Given the description of an element on the screen output the (x, y) to click on. 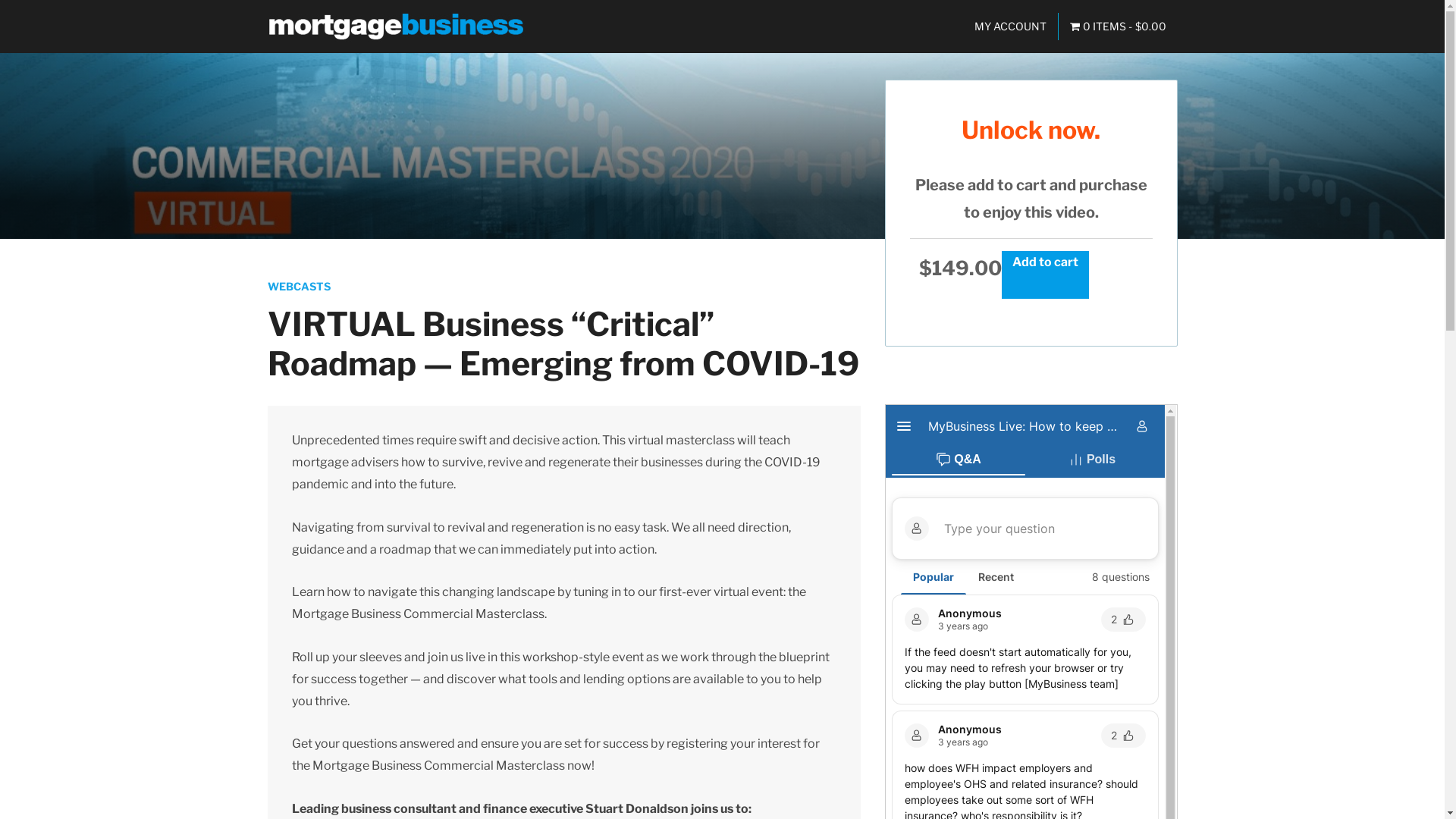
0 ITEMS$0.00 Element type: text (1117, 26)
MY ACCOUNT Element type: text (1010, 26)
Add to cart Element type: text (1044, 274)
WEBCASTS Element type: text (297, 285)
